Given the description of an element on the screen output the (x, y) to click on. 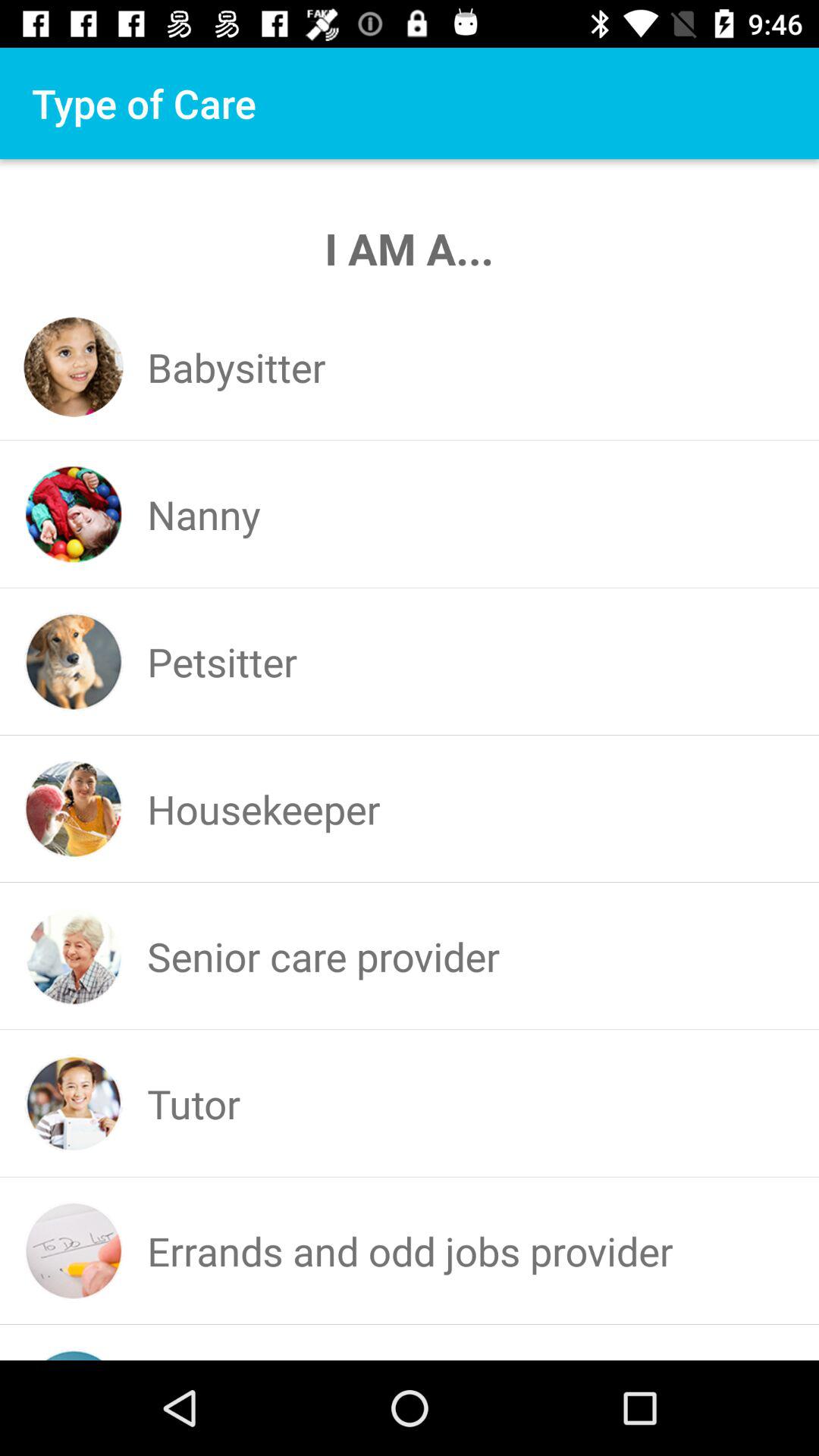
choose the item above the petsitter item (203, 513)
